Given the description of an element on the screen output the (x, y) to click on. 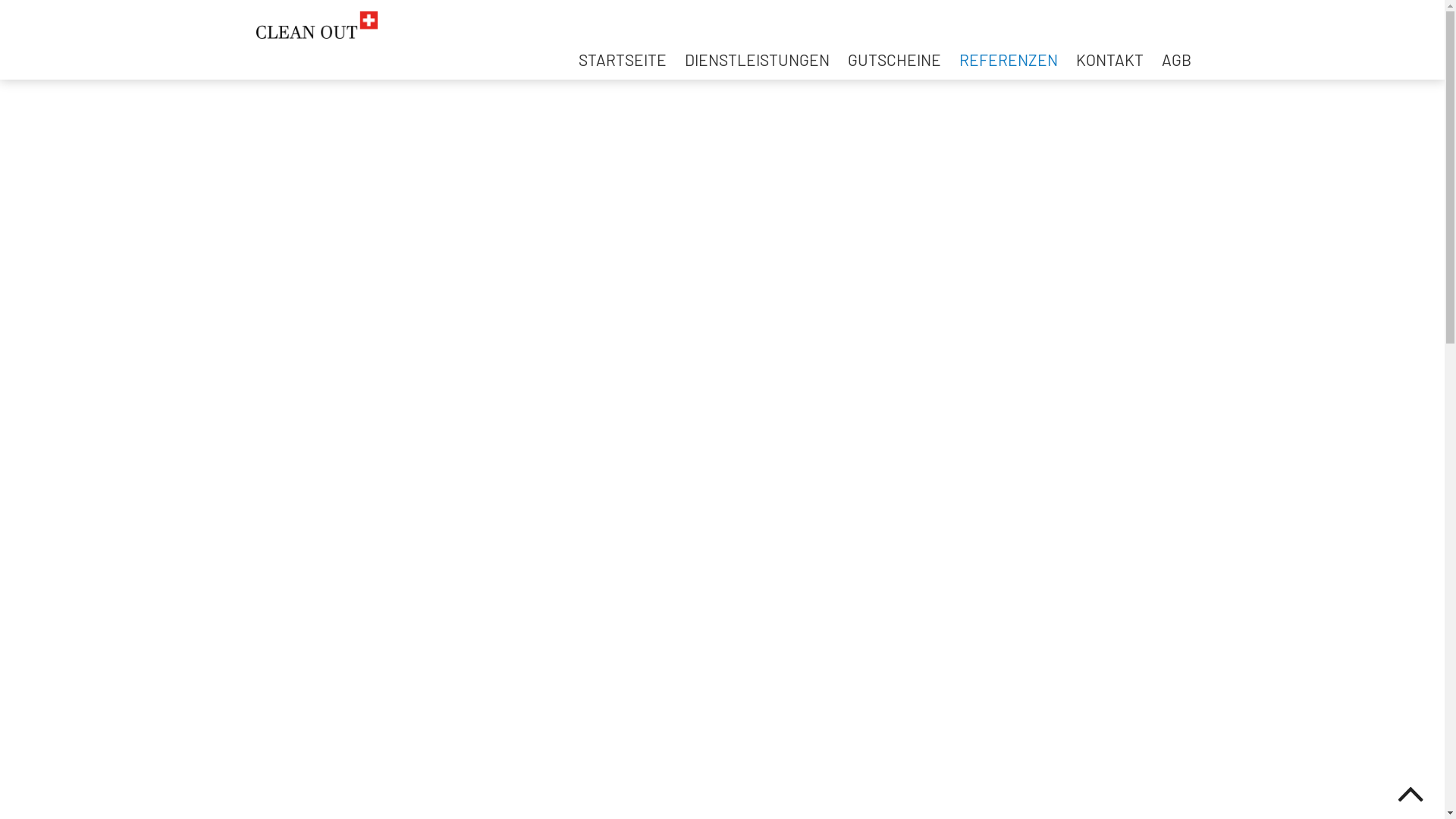
GUTSCHEINE Element type: text (894, 59)
STARTSEITE Element type: text (621, 59)
REFERENZEN Element type: text (1007, 59)
DIENSTLEISTUNGEN Element type: text (755, 59)
AGB Element type: text (1176, 59)
KONTAKT Element type: text (1108, 59)
